Given the description of an element on the screen output the (x, y) to click on. 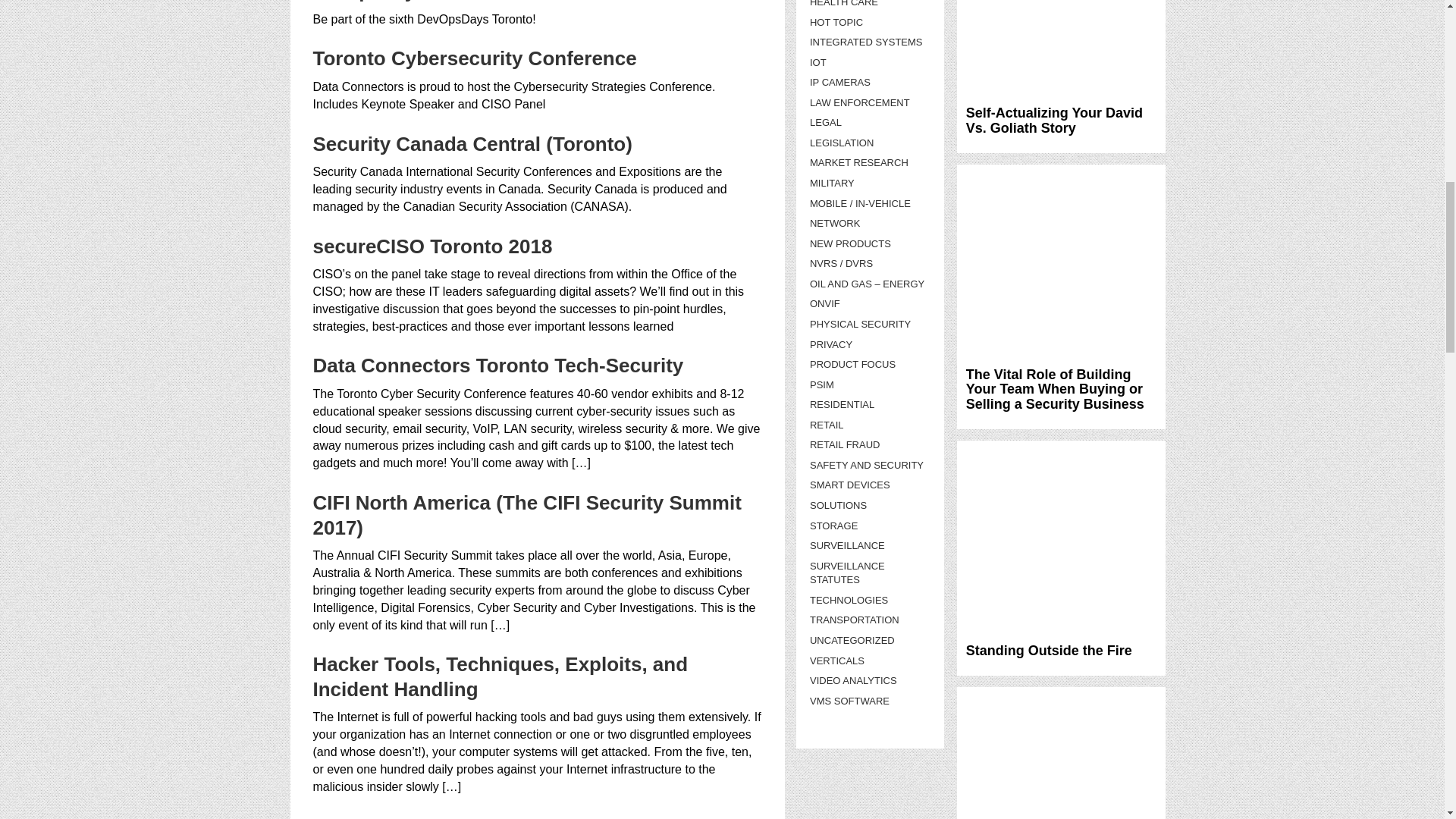
secureCISO Toronto 2018 (432, 246)
Toronto Cybersecurity Conference (474, 57)
devopsdays Toronto (409, 1)
Data Connectors Toronto Tech-Security (497, 364)
